Given the description of an element on the screen output the (x, y) to click on. 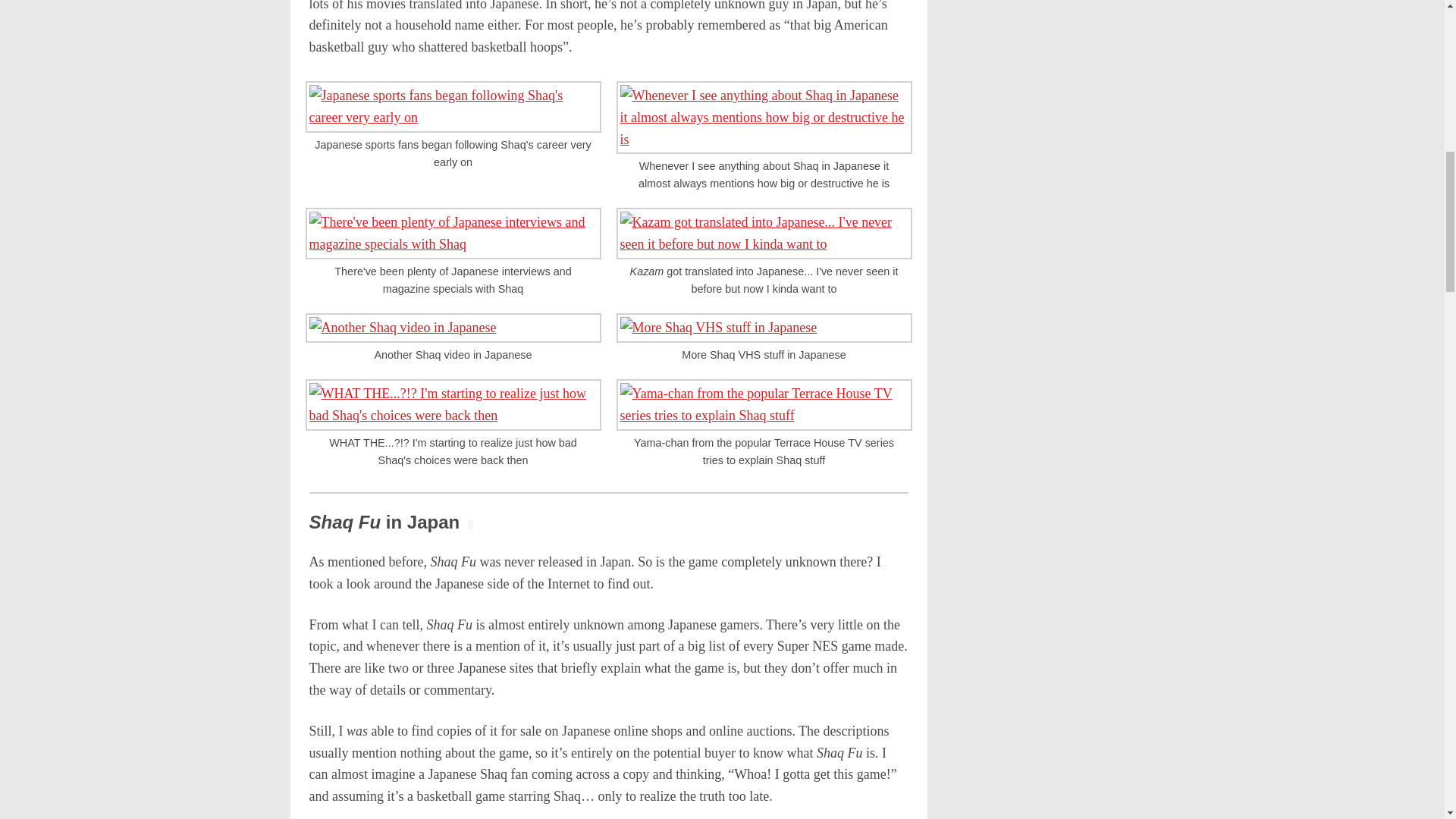
More Shaq VHS stuff in Japanese (763, 327)
Another Shaq video in Japanese (451, 327)
